Given the description of an element on the screen output the (x, y) to click on. 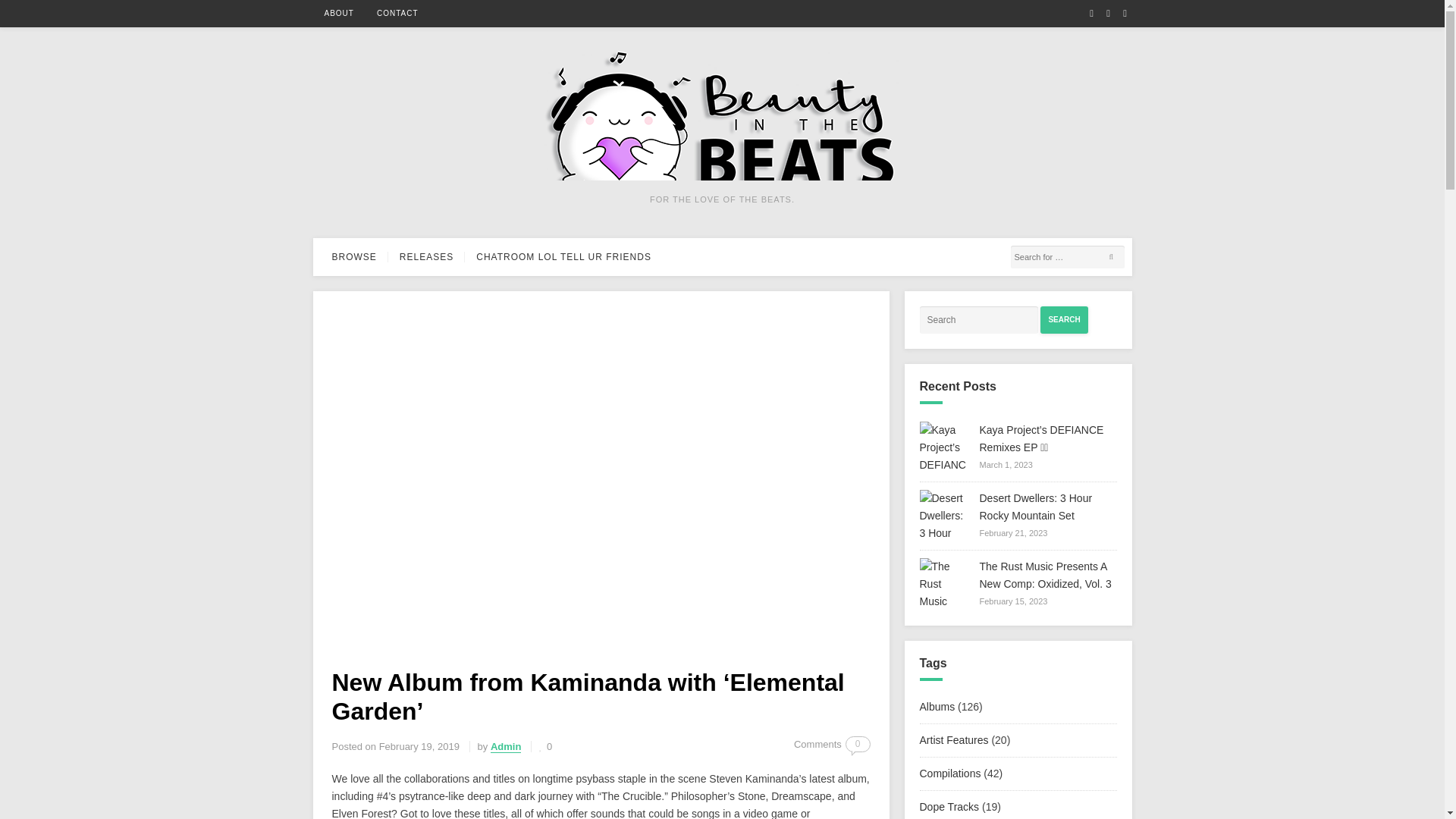
0 (544, 746)
0 (857, 744)
CHATROOM LOL TELL UR FRIENDS (563, 257)
SEARCH (1064, 319)
ABOUT (339, 13)
BROWSE (353, 257)
Admin (505, 746)
CONTACT (397, 13)
Like this (544, 746)
RELEASES (426, 257)
